Given the description of an element on the screen output the (x, y) to click on. 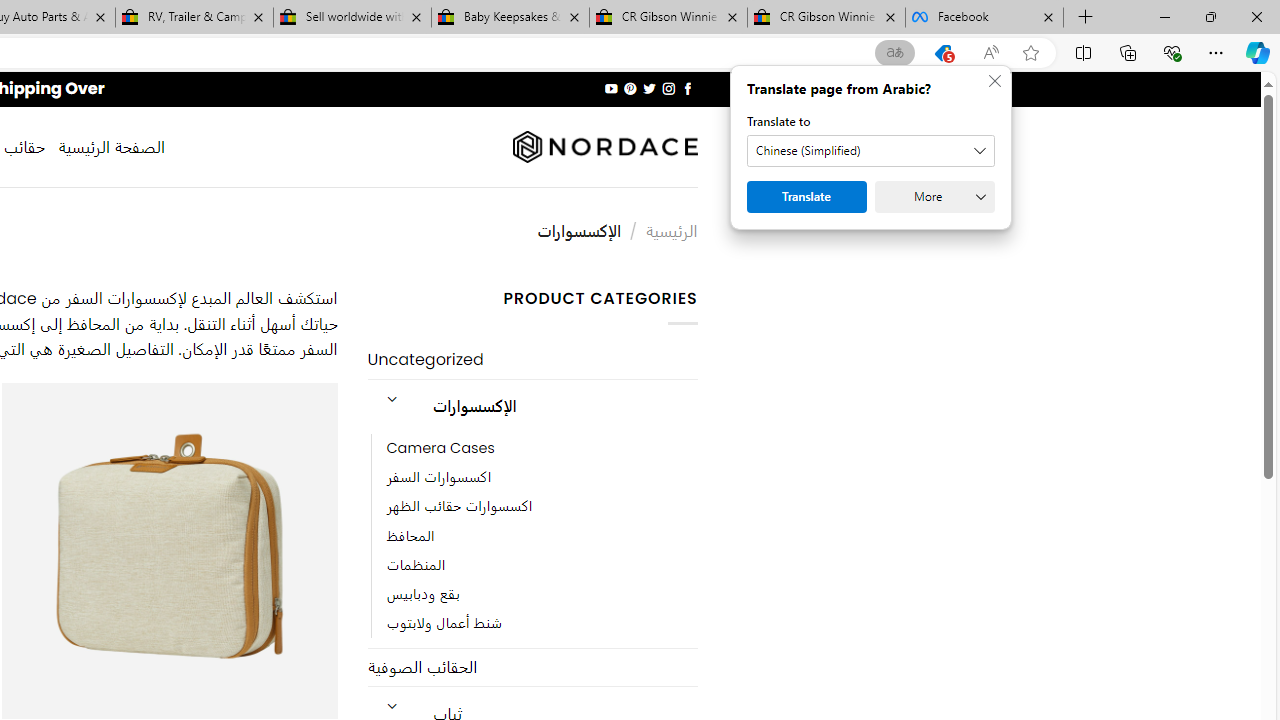
Uncategorized (532, 359)
Follow on Twitter (648, 88)
Camera Cases (541, 448)
Follow on Facebook (686, 88)
Show translate options (895, 53)
This site has coupons! Shopping in Microsoft Edge, 5 (943, 53)
Follow on Instagram (667, 88)
